Given the description of an element on the screen output the (x, y) to click on. 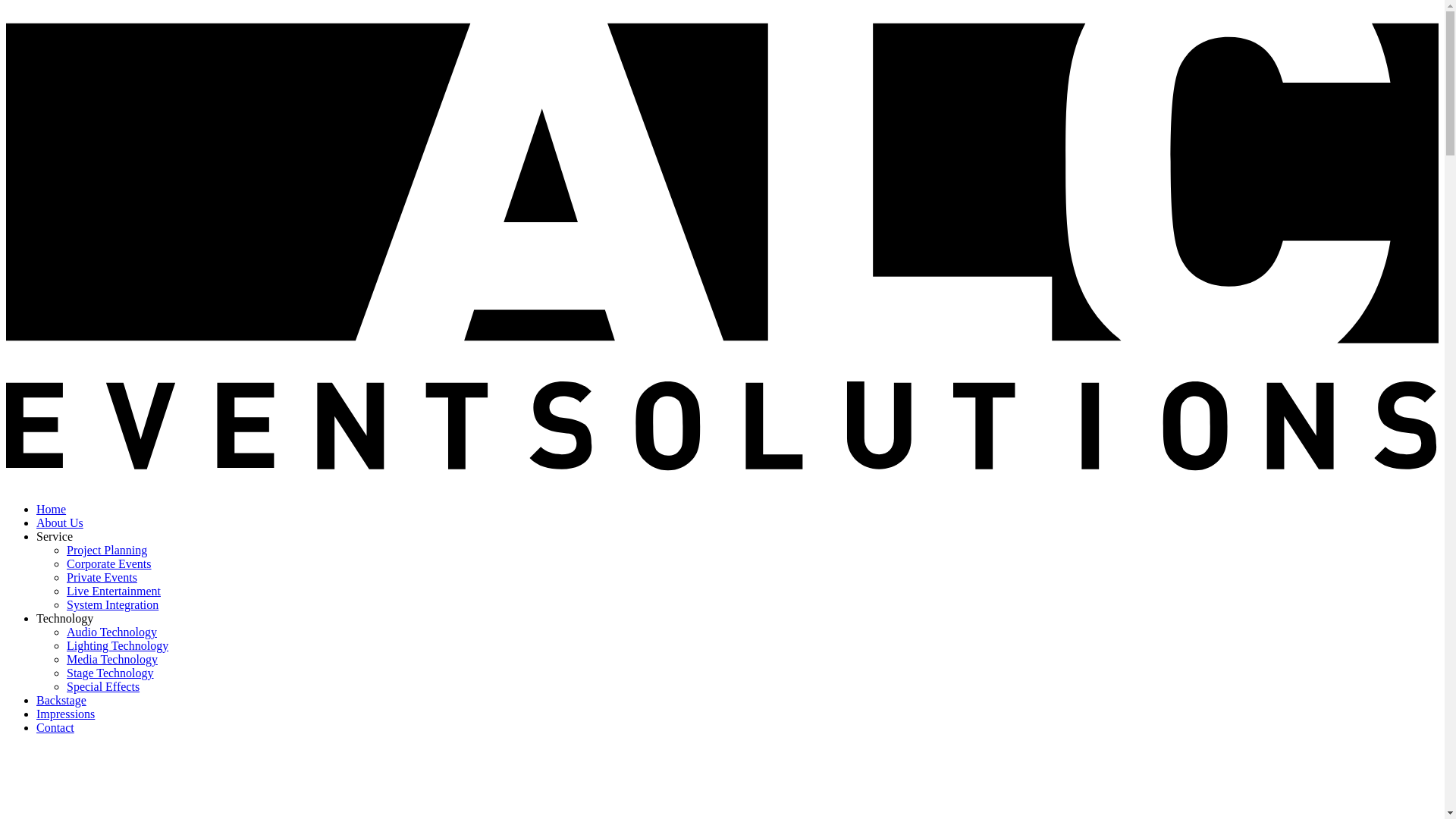
Audio Technology Element type: text (111, 631)
Media Technology Element type: text (111, 658)
Impressions Element type: text (65, 713)
Contact Element type: text (55, 727)
Backstage Element type: text (61, 699)
Stage Technology Element type: text (109, 672)
Lighting Technology Element type: text (117, 645)
Corporate Events Element type: text (108, 563)
Special Effects Element type: text (102, 686)
System Integration Element type: text (112, 604)
About Us Element type: text (59, 522)
Live Entertainment Element type: text (113, 590)
Project Planning Element type: text (106, 549)
Home Element type: text (50, 508)
Private Events Element type: text (101, 577)
